Given the description of an element on the screen output the (x, y) to click on. 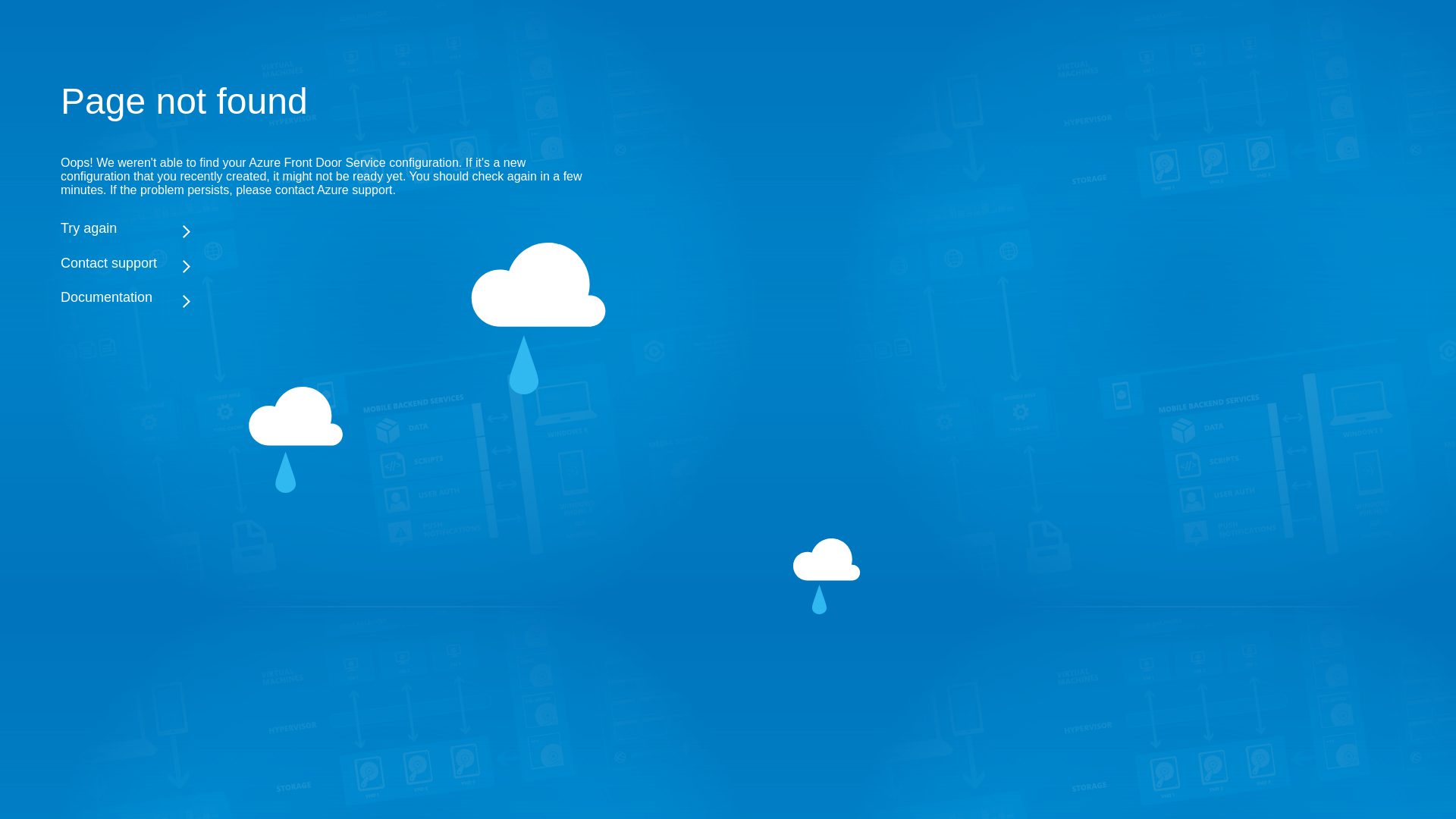
Contact support Element type: text (325, 262)
Documentation Element type: text (325, 297)
Try again Element type: text (325, 227)
